Given the description of an element on the screen output the (x, y) to click on. 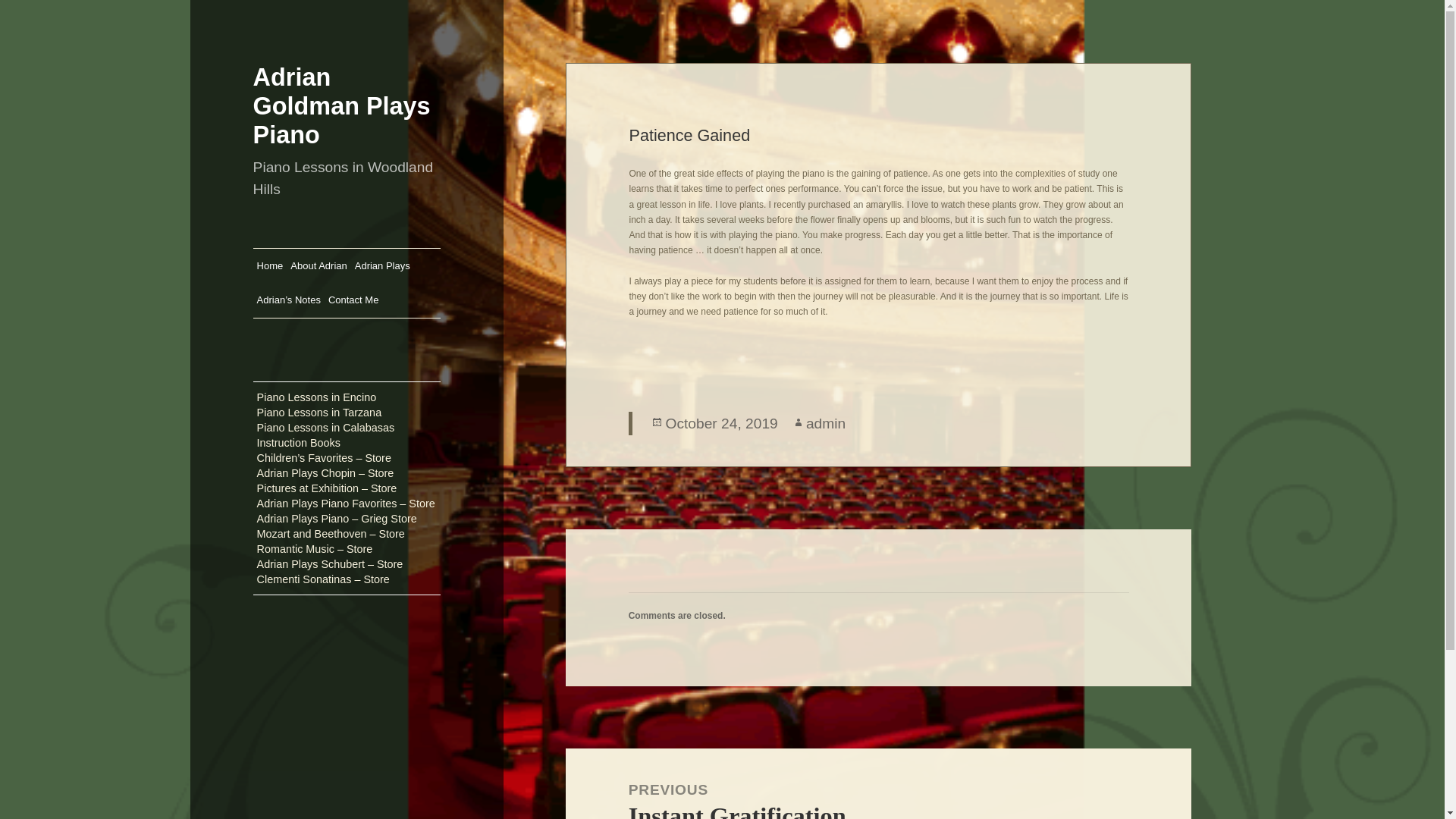
Piano Lessons in Tarzana (319, 412)
Instruction Books (298, 442)
Piano Lessons in Calabasas (325, 427)
October 24, 2019 (721, 423)
Contact Me (352, 299)
About Adrian (318, 265)
Adrian Plays (878, 783)
Adrian Goldman Plays Piano (381, 265)
Piano Lessons in Encino (341, 106)
